Given the description of an element on the screen output the (x, y) to click on. 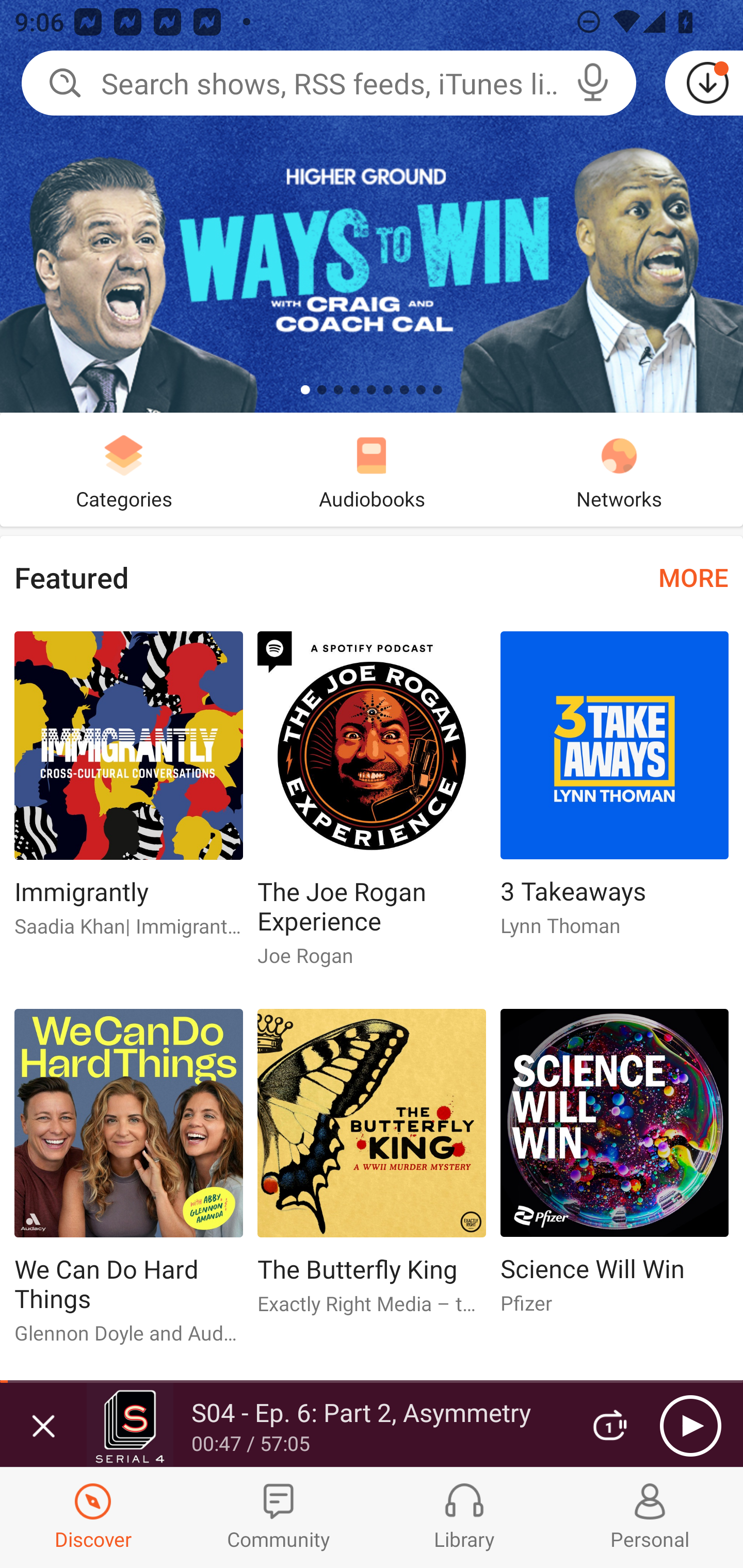
Ways To Win (371, 206)
Categories (123, 469)
Audiobooks (371, 469)
Networks (619, 469)
MORE (693, 576)
3 Takeaways 3 Takeaways Lynn Thoman (614, 792)
Science Will Win Science Will Win Pfizer (614, 1169)
S04 - Ep. 6: Part 2, Asymmetry 00:47 / 57:05 (326, 1424)
Play (690, 1425)
Discover (92, 1517)
Community (278, 1517)
Library (464, 1517)
Profiles and Settings Personal (650, 1517)
